Given the description of an element on the screen output the (x, y) to click on. 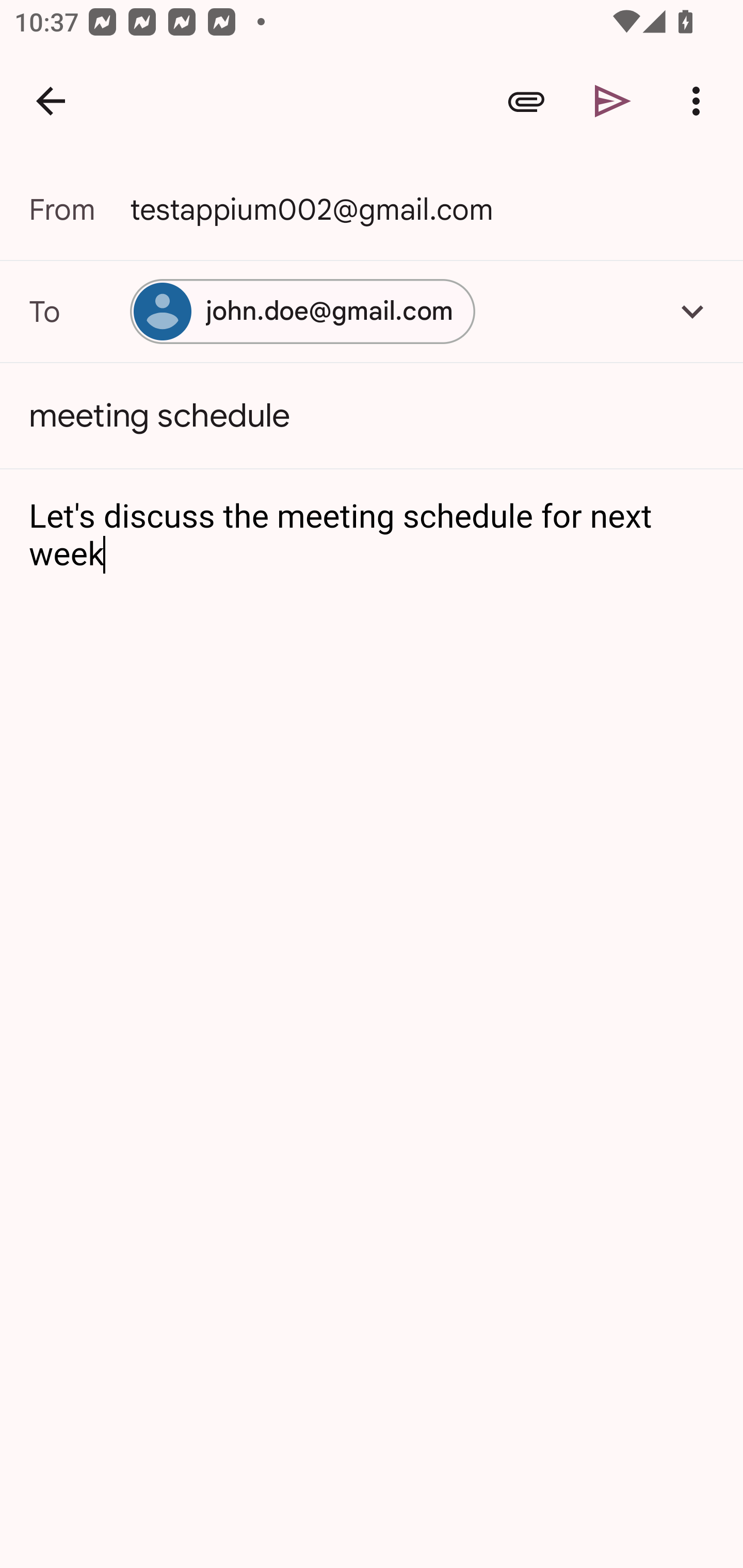
Navigate up (50, 101)
Attach file (525, 101)
Send (612, 101)
More options (699, 101)
From (79, 209)
Add Cc/Bcc (692, 311)
meeting schedule (371, 415)
Let's discuss the meeting schedule for next week (372, 535)
